Given the description of an element on the screen output the (x, y) to click on. 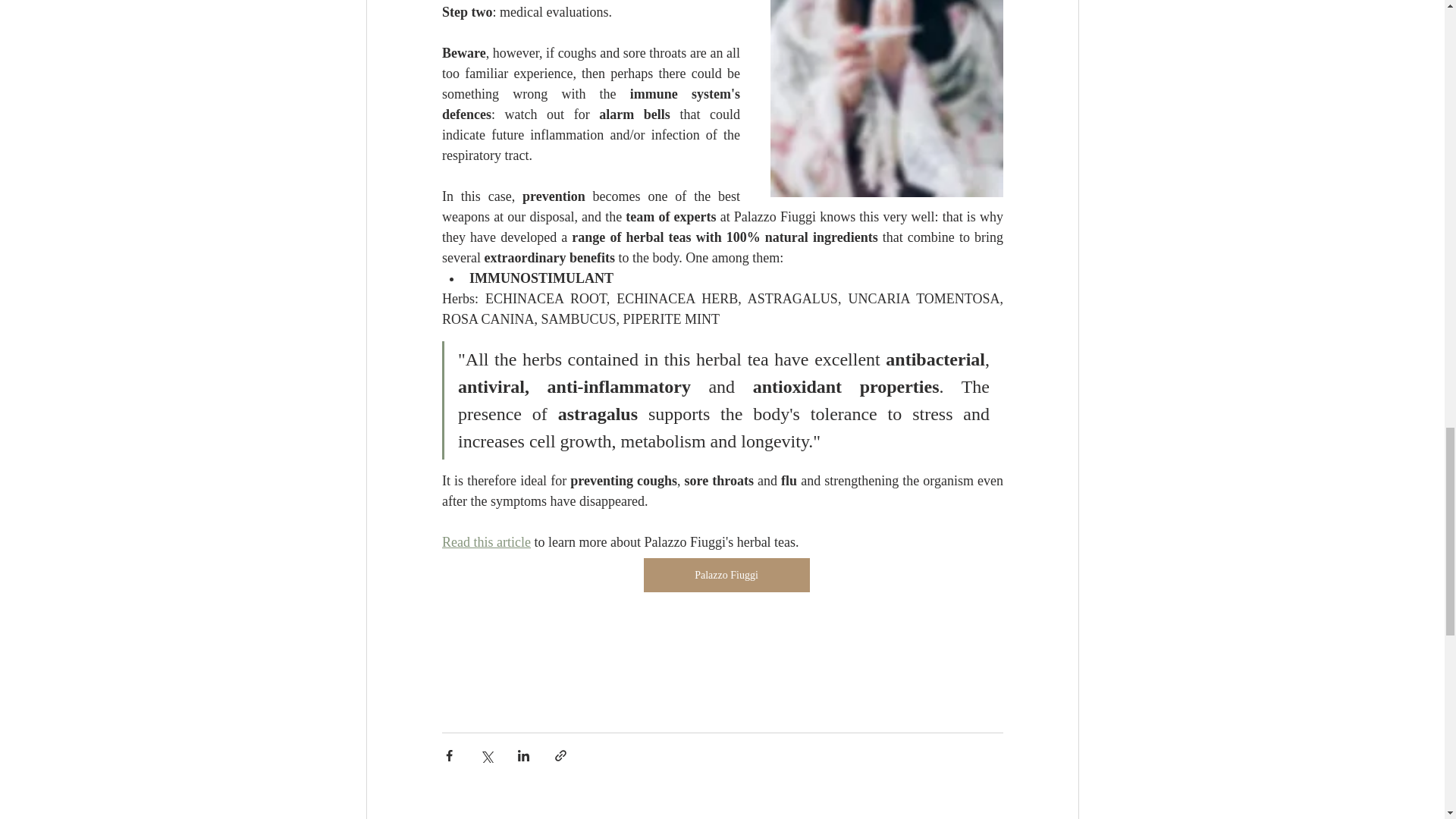
Read this article (485, 541)
Palazzo Fiuggi (726, 574)
